Given the description of an element on the screen output the (x, y) to click on. 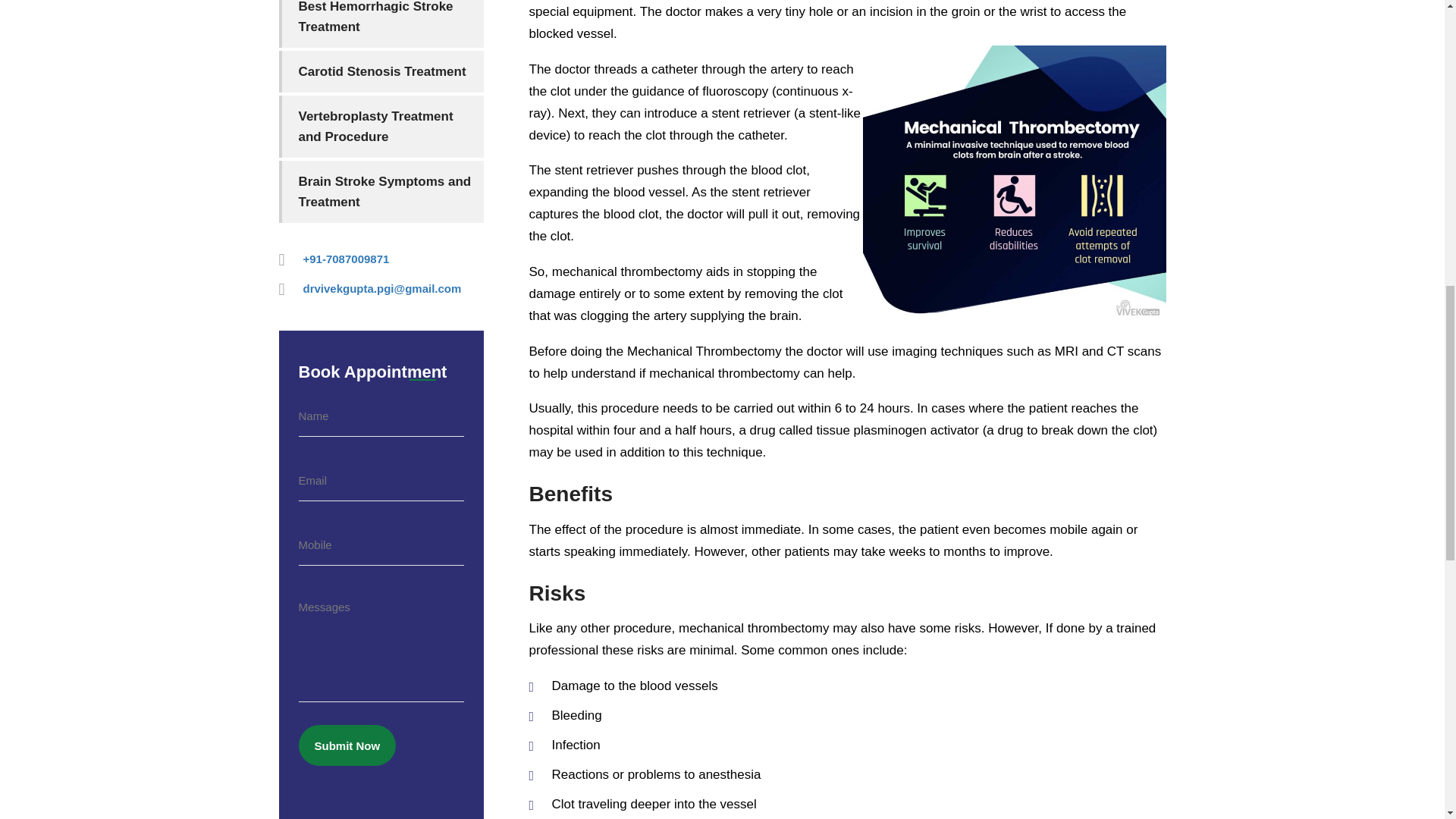
Submit Now (347, 745)
